Given the description of an element on the screen output the (x, y) to click on. 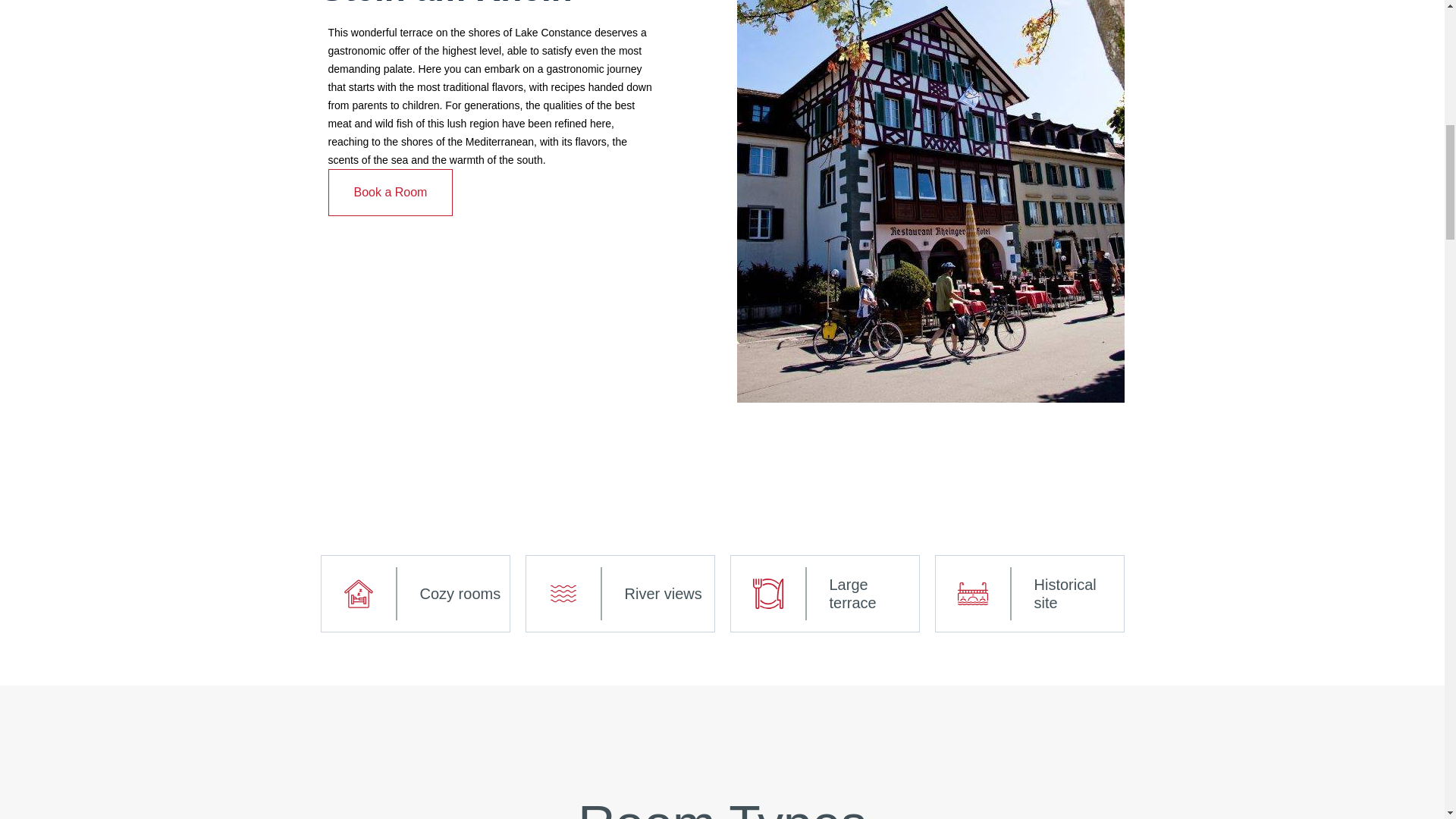
Book a Room (389, 192)
